Given the description of an element on the screen output the (x, y) to click on. 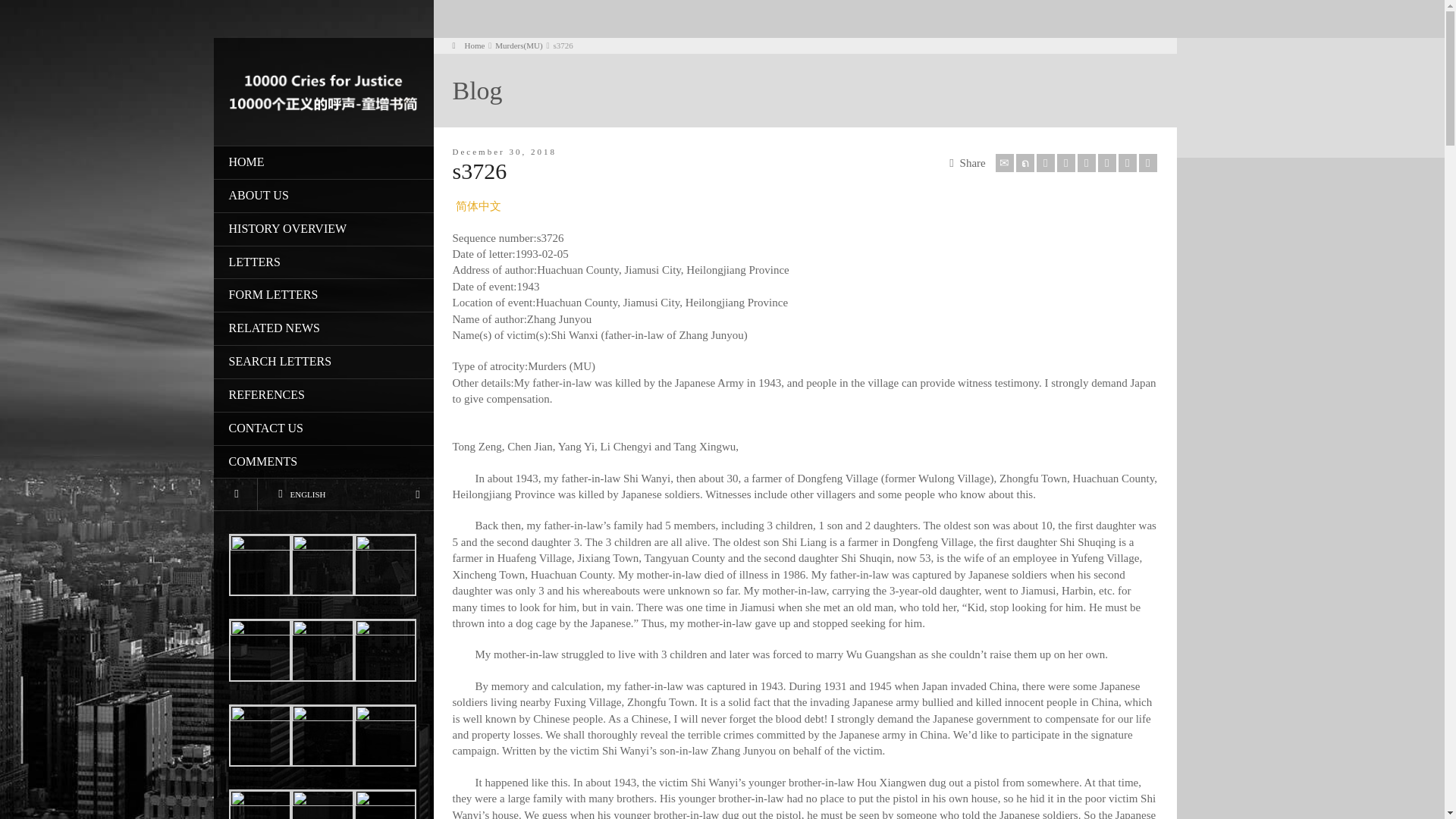
ABOUT US (323, 195)
HOME (323, 162)
Facebook (1045, 162)
Home (467, 44)
HISTORY OVERVIEW (323, 229)
CONTACT US (323, 428)
Pinterest (1086, 162)
SEARCH LETTERS (323, 362)
Languages (345, 493)
Email (1004, 162)
